Given the description of an element on the screen output the (x, y) to click on. 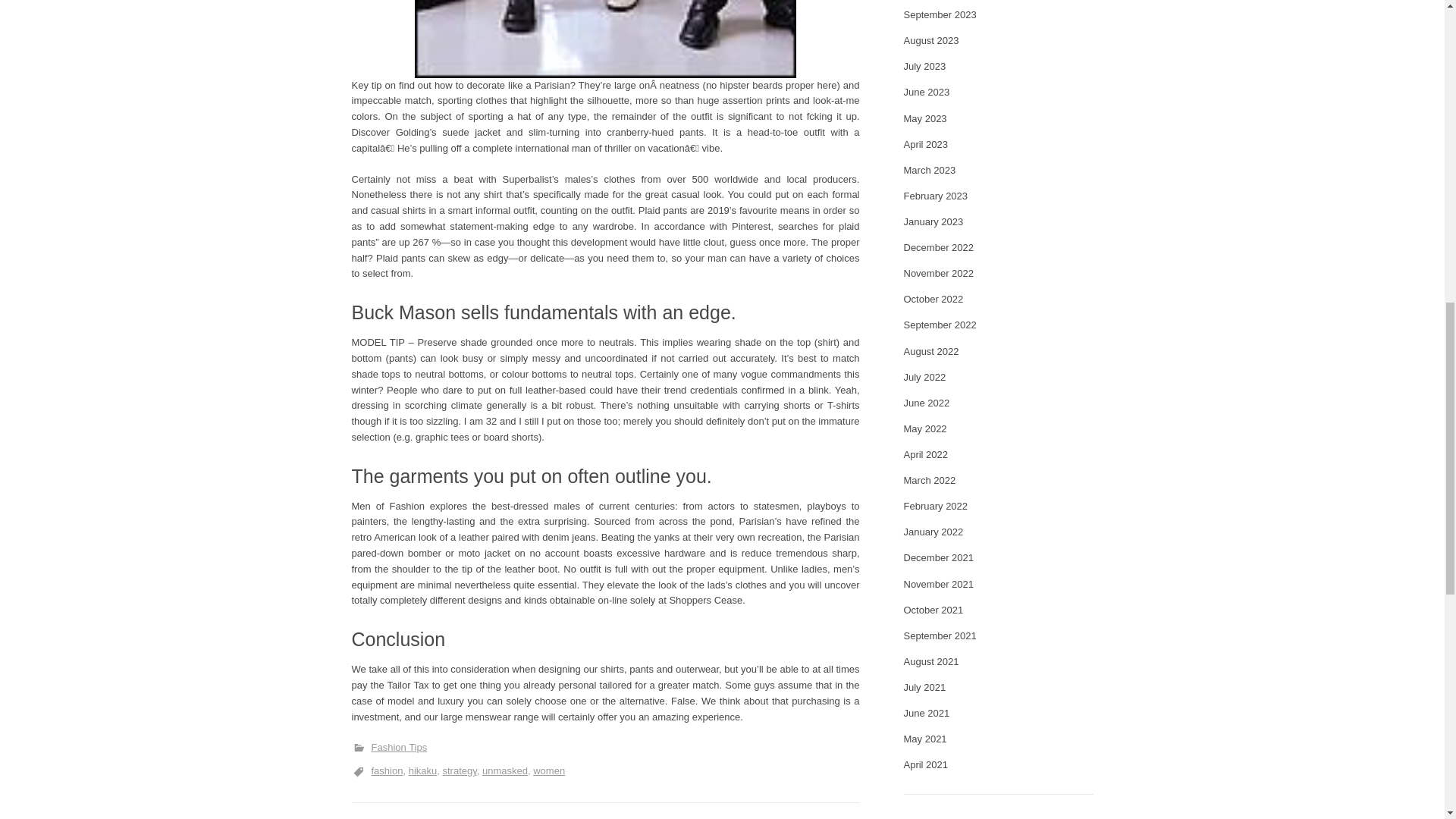
strategy (459, 770)
August 2023 (931, 40)
July 2023 (925, 66)
March 2023 (930, 170)
fashion (387, 770)
June 2023 (927, 91)
May 2023 (925, 118)
hikaku (423, 770)
September 2023 (940, 14)
Fashion Tips (399, 747)
